Given the description of an element on the screen output the (x, y) to click on. 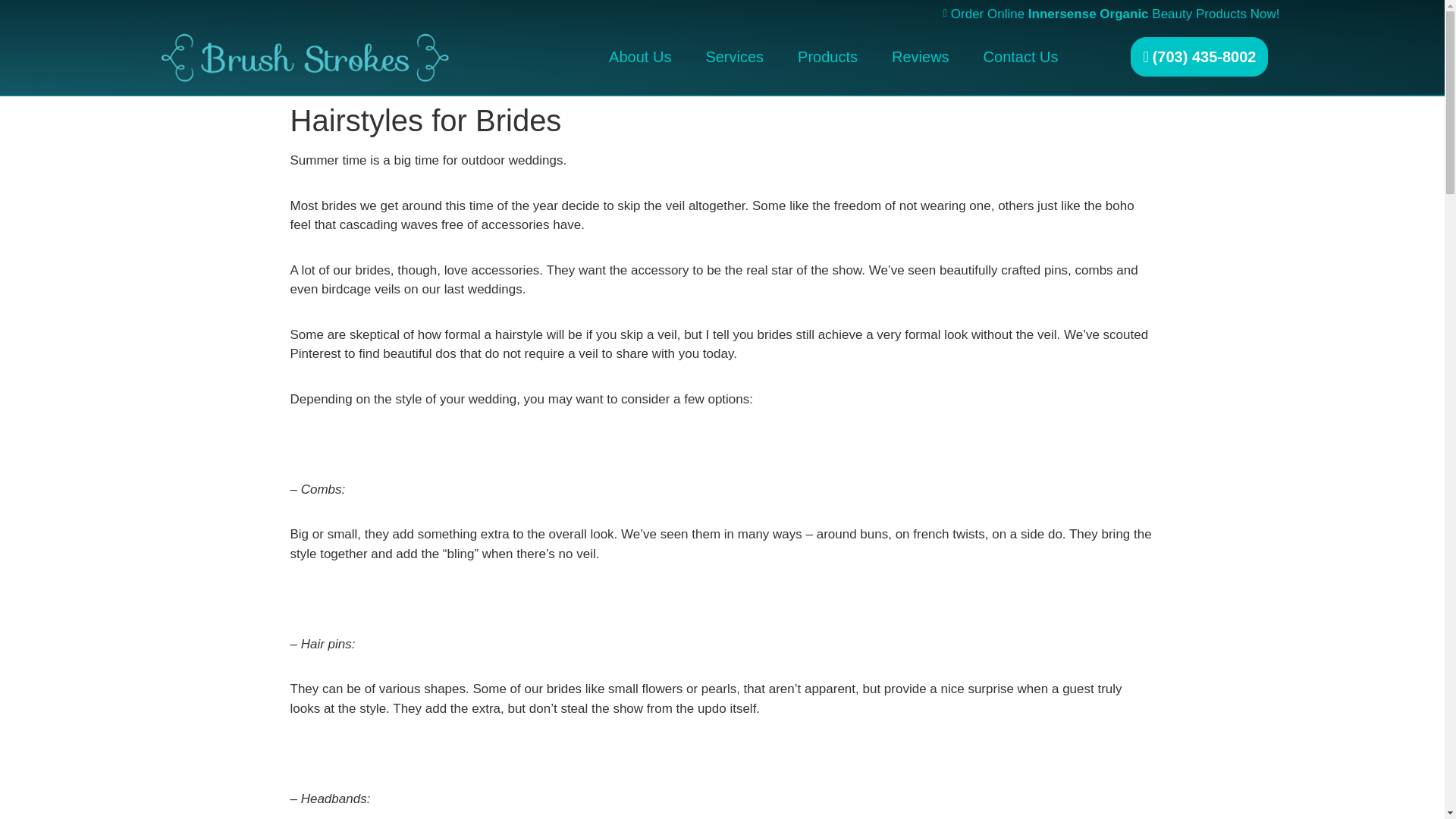
Reviews (919, 56)
Contact Us (1021, 56)
About Us (639, 56)
Services (734, 56)
Order Online Innersense Organic Beauty Products Now! (715, 14)
Products (827, 56)
